Given the description of an element on the screen output the (x, y) to click on. 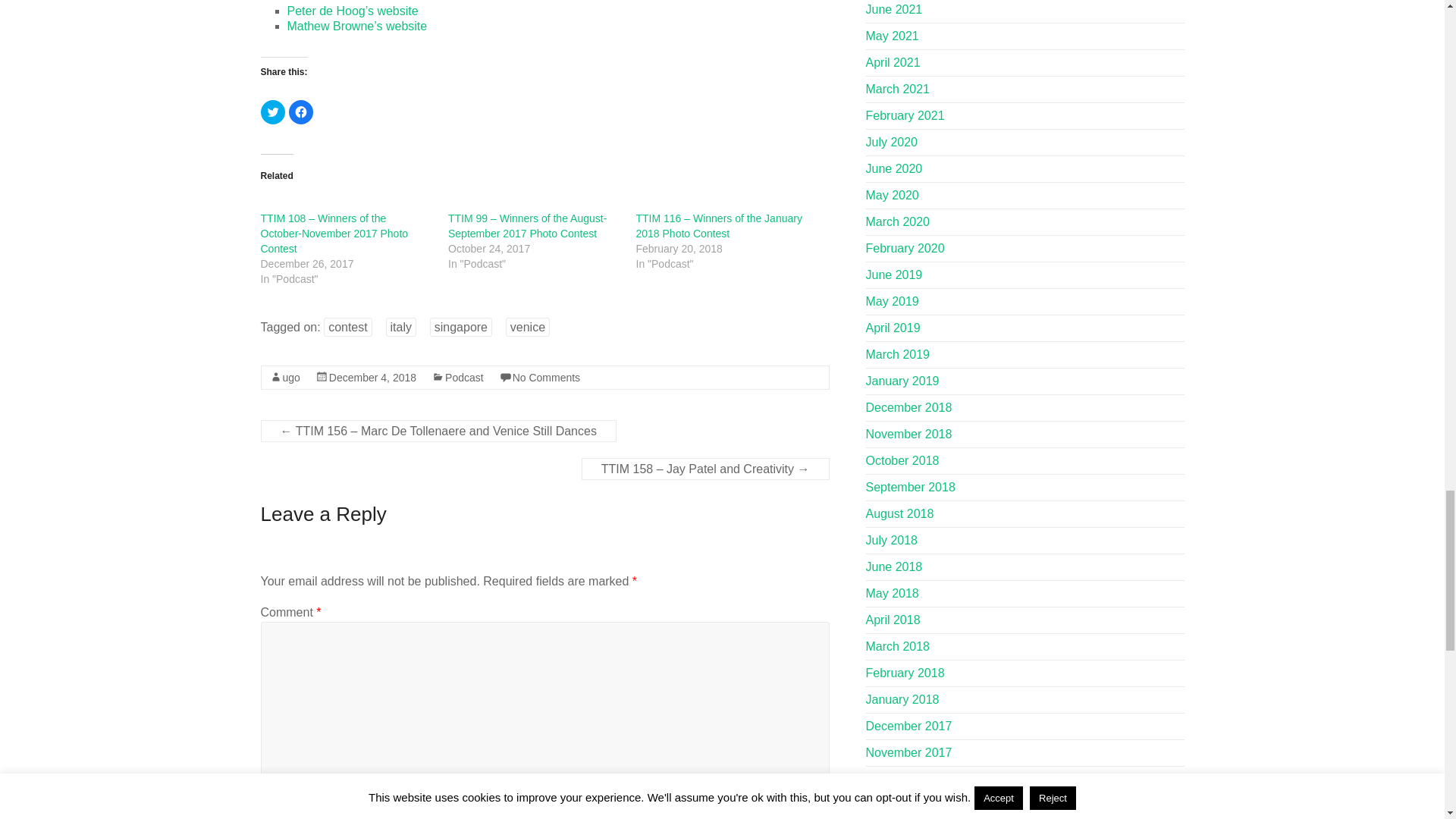
8:00 am (372, 377)
singapore (460, 326)
contest (347, 326)
No Comments (545, 377)
venice (527, 326)
Click to share on Twitter (272, 111)
Podcast (464, 377)
Click to share on Facebook (300, 111)
italy (399, 326)
ugo (290, 377)
December 4, 2018 (372, 377)
